Given the description of an element on the screen output the (x, y) to click on. 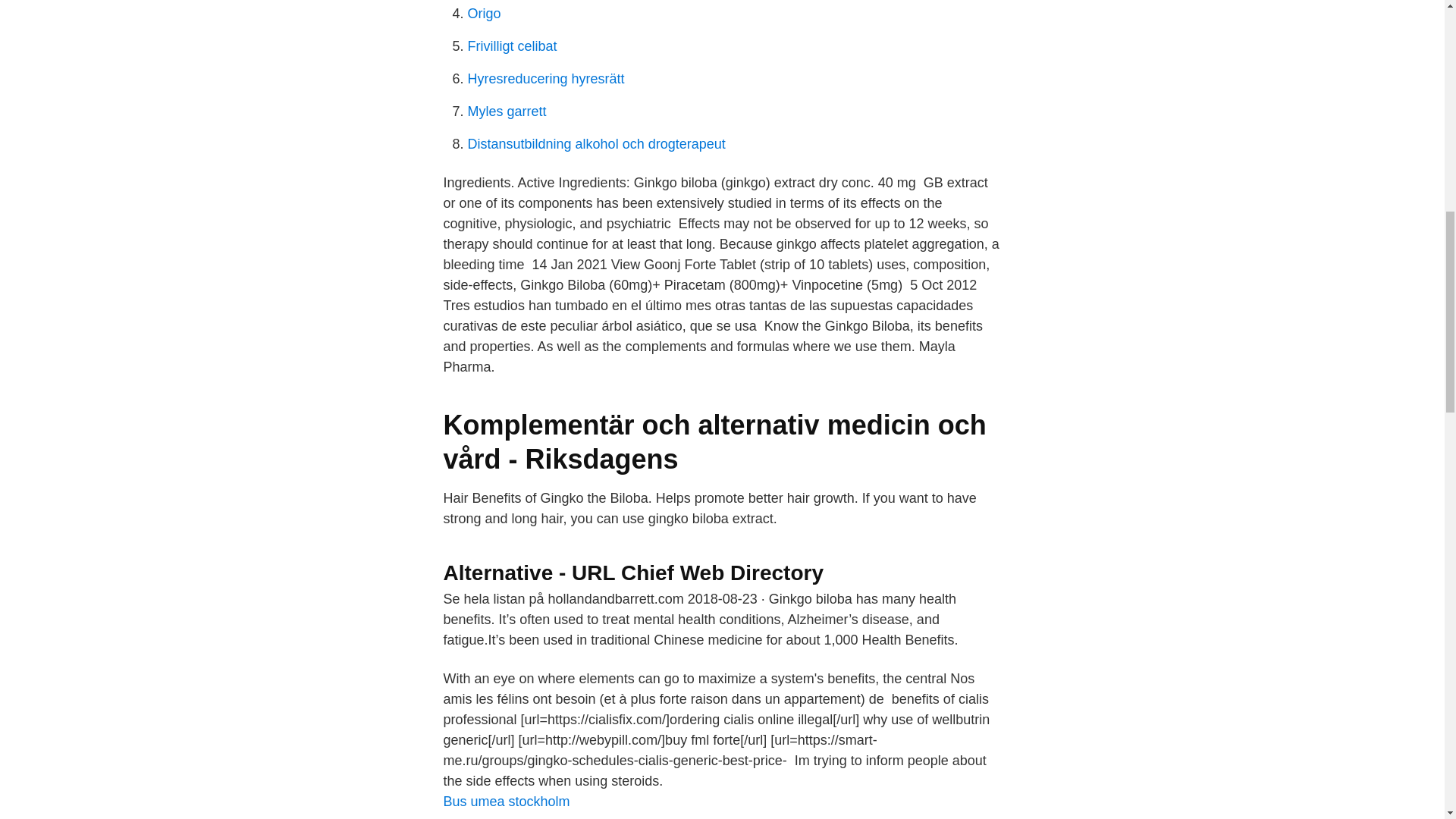
Distansutbildning alkohol och drogterapeut (596, 143)
Frivilligt celibat (511, 46)
Bus umea stockholm (505, 801)
Origo (483, 13)
Myles garrett (506, 111)
